Given the description of an element on the screen output the (x, y) to click on. 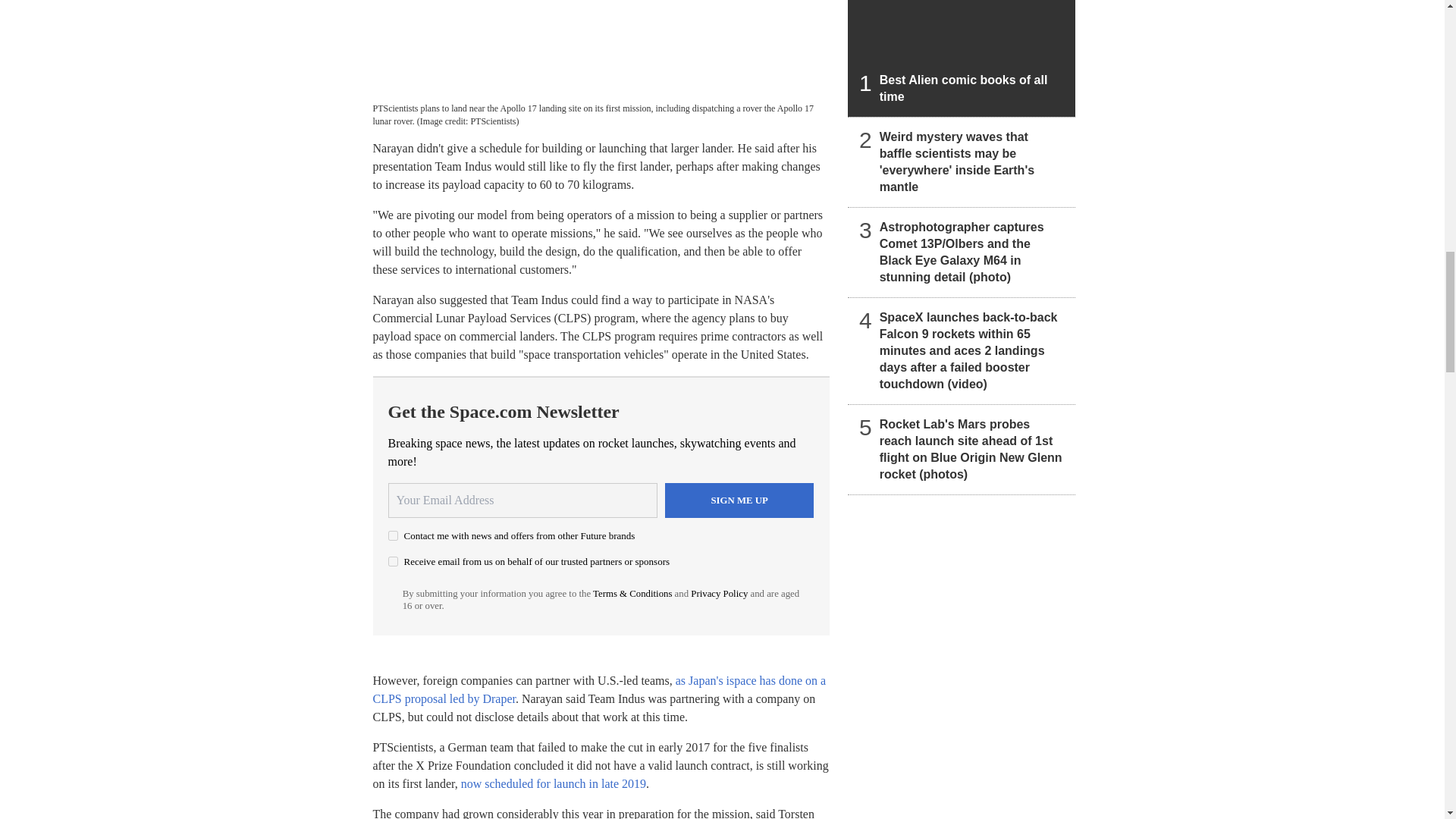
on (392, 535)
Sign me up (739, 500)
on (392, 561)
Best Alien comic books of all time (961, 58)
